Given the description of an element on the screen output the (x, y) to click on. 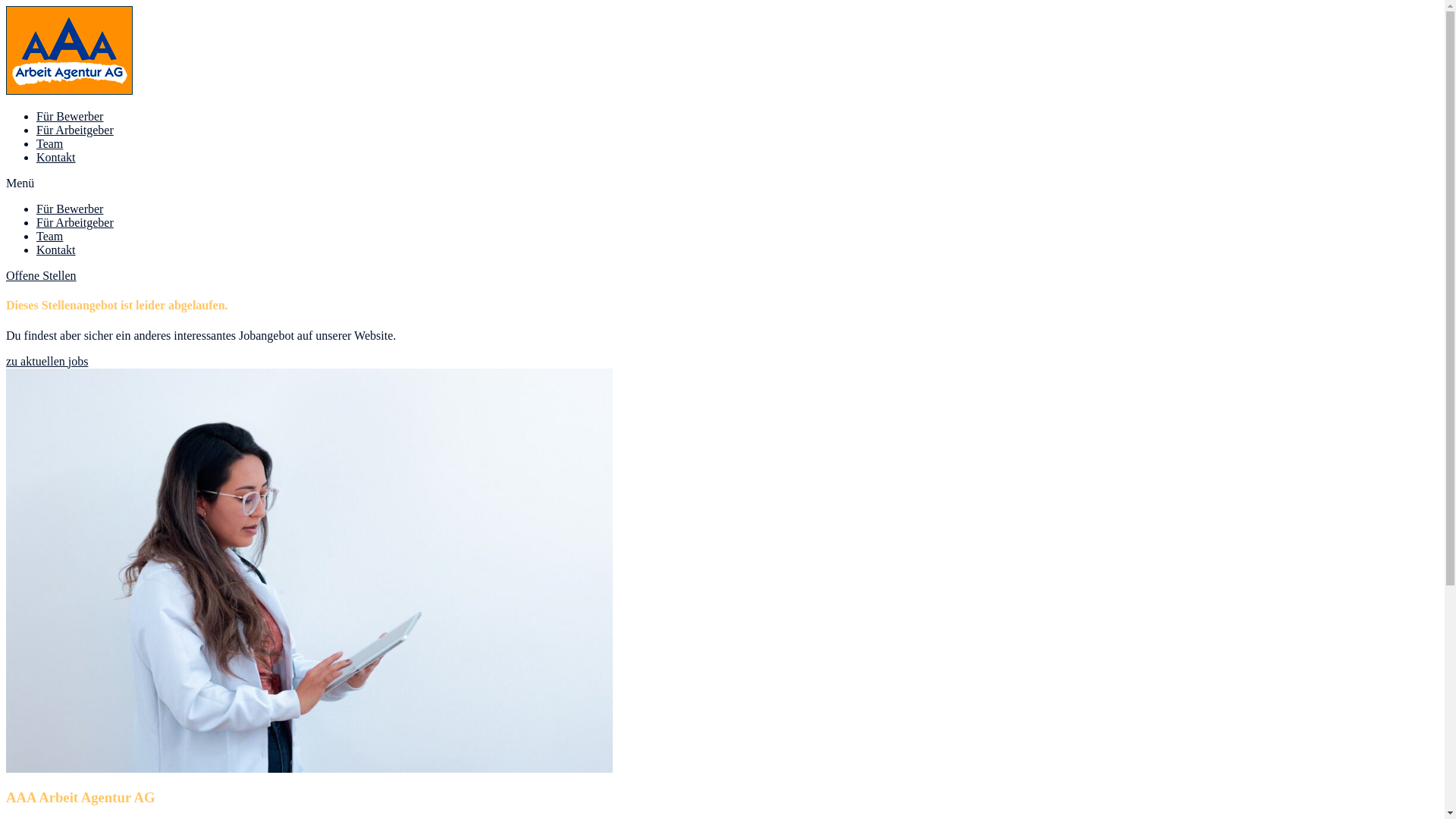
Kontakt Element type: text (55, 249)
Team Element type: text (49, 235)
Team Element type: text (49, 143)
Offene Stellen Element type: text (41, 275)
Kontakt Element type: text (55, 156)
zu aktuellen jobs Element type: text (46, 360)
